Given the description of an element on the screen output the (x, y) to click on. 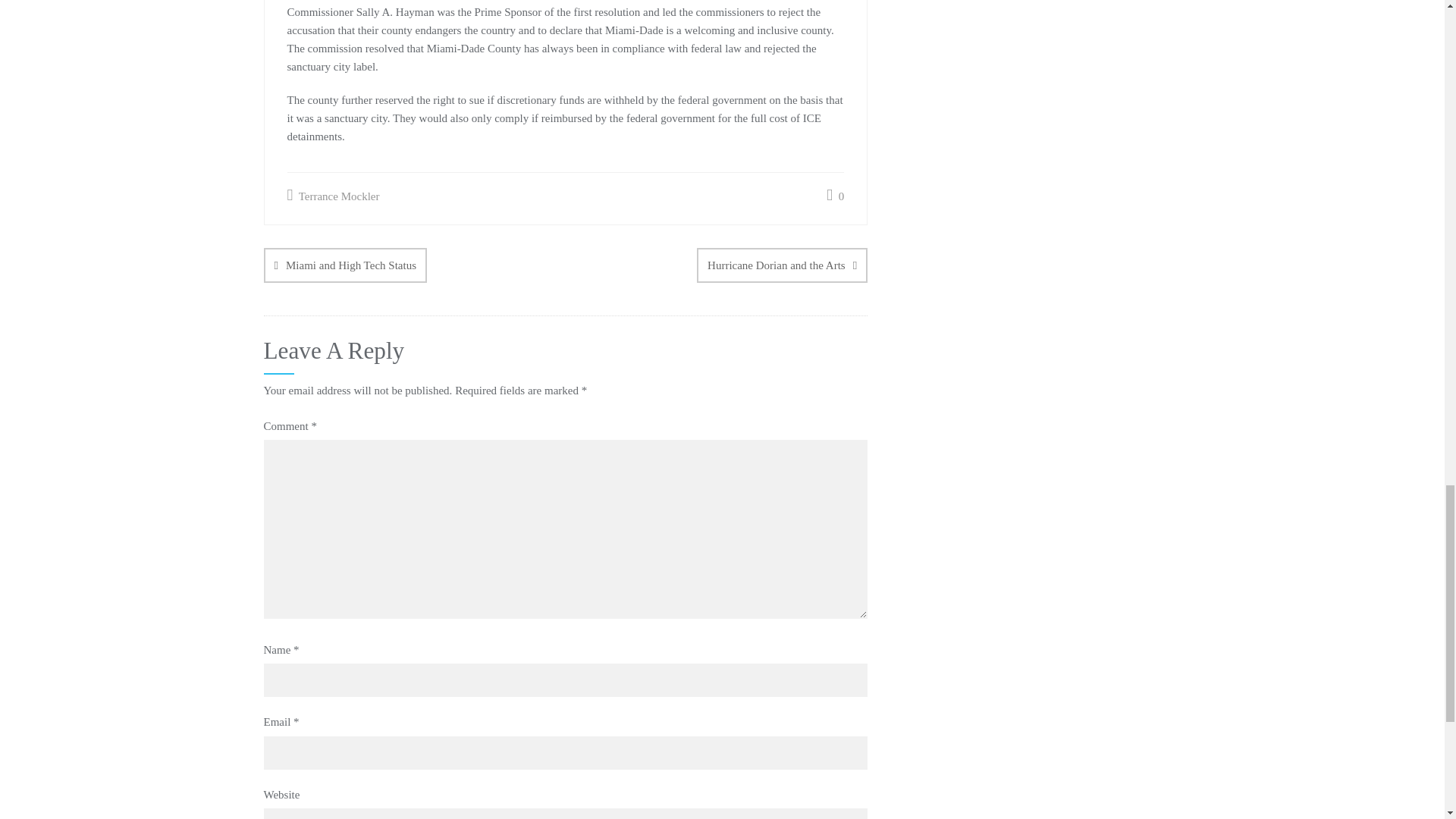
Hurricane Dorian and the Arts (782, 265)
Terrance Mockler (332, 196)
Miami and High Tech Status (344, 265)
